Given the description of an element on the screen output the (x, y) to click on. 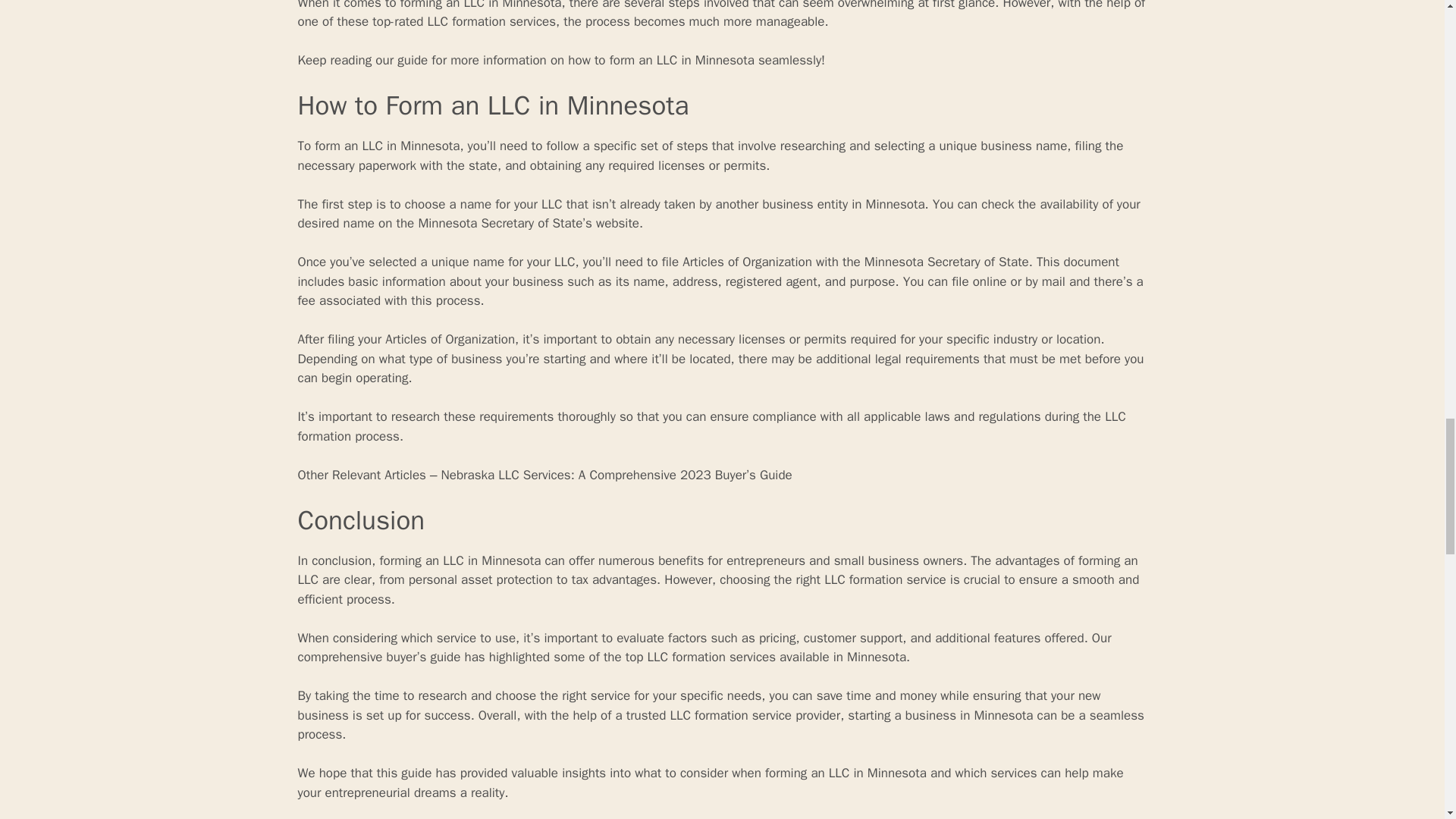
how to form an LLC in Minnesota (660, 59)
